Given the description of an element on the screen output the (x, y) to click on. 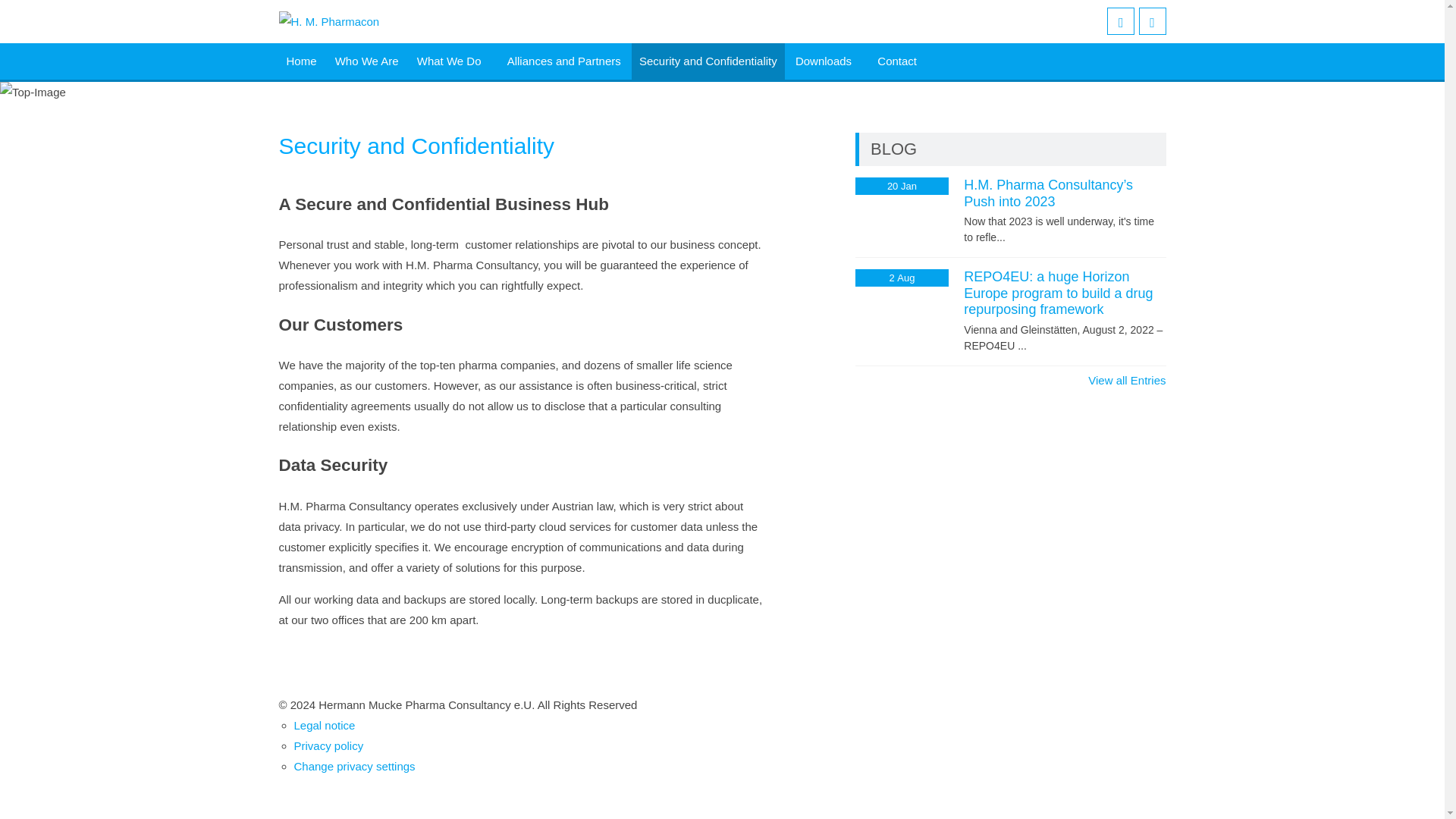
Alliances and Partners (563, 61)
Legal notice (324, 725)
Contact (896, 61)
Change privacy settings (354, 766)
Who We Are (366, 61)
Linkedin (1152, 21)
What We Do (452, 61)
Downloads (826, 61)
Security and Confidentiality (707, 61)
View all Entries (1126, 380)
Home (301, 61)
Privacy policy (329, 745)
Twitter (1120, 21)
